Given the description of an element on the screen output the (x, y) to click on. 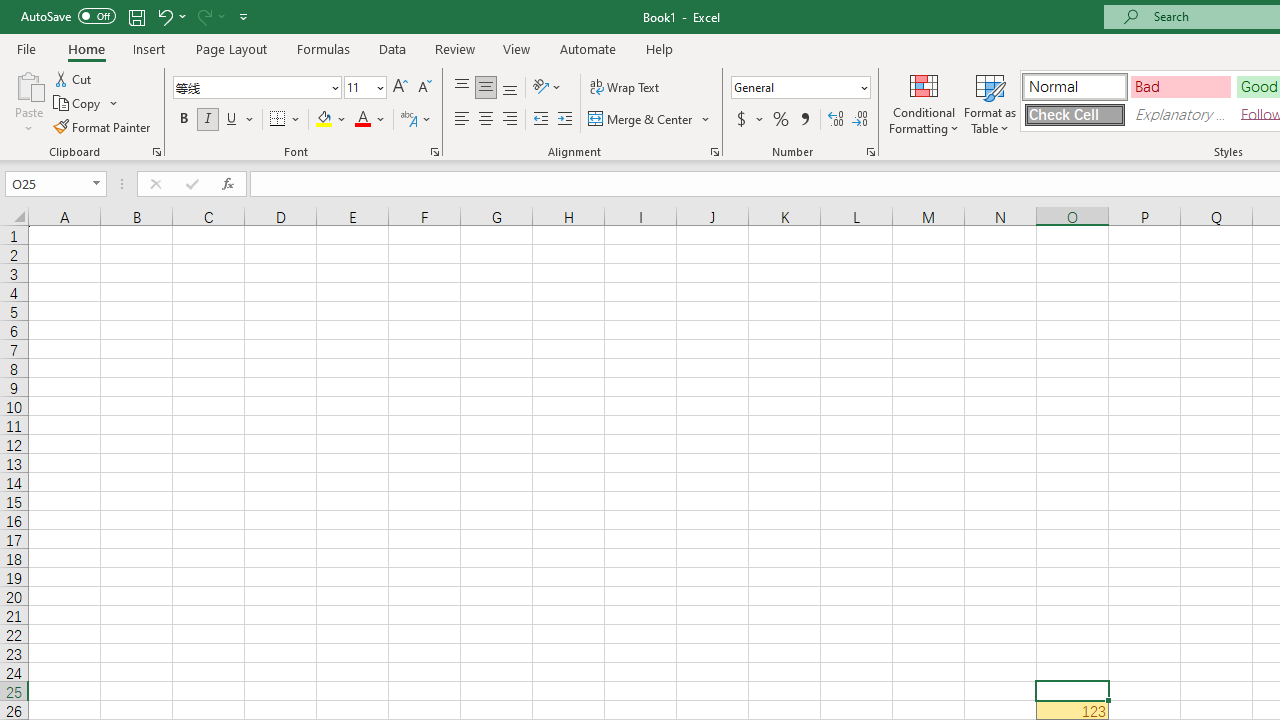
Bottom Border (278, 119)
Orientation (547, 87)
Increase Font Size (399, 87)
Font Size (365, 87)
Font Size (358, 87)
Font (250, 87)
Paste (28, 102)
Conditional Formatting (924, 102)
Bottom Align (509, 87)
Format Painter (103, 126)
